Given the description of an element on the screen output the (x, y) to click on. 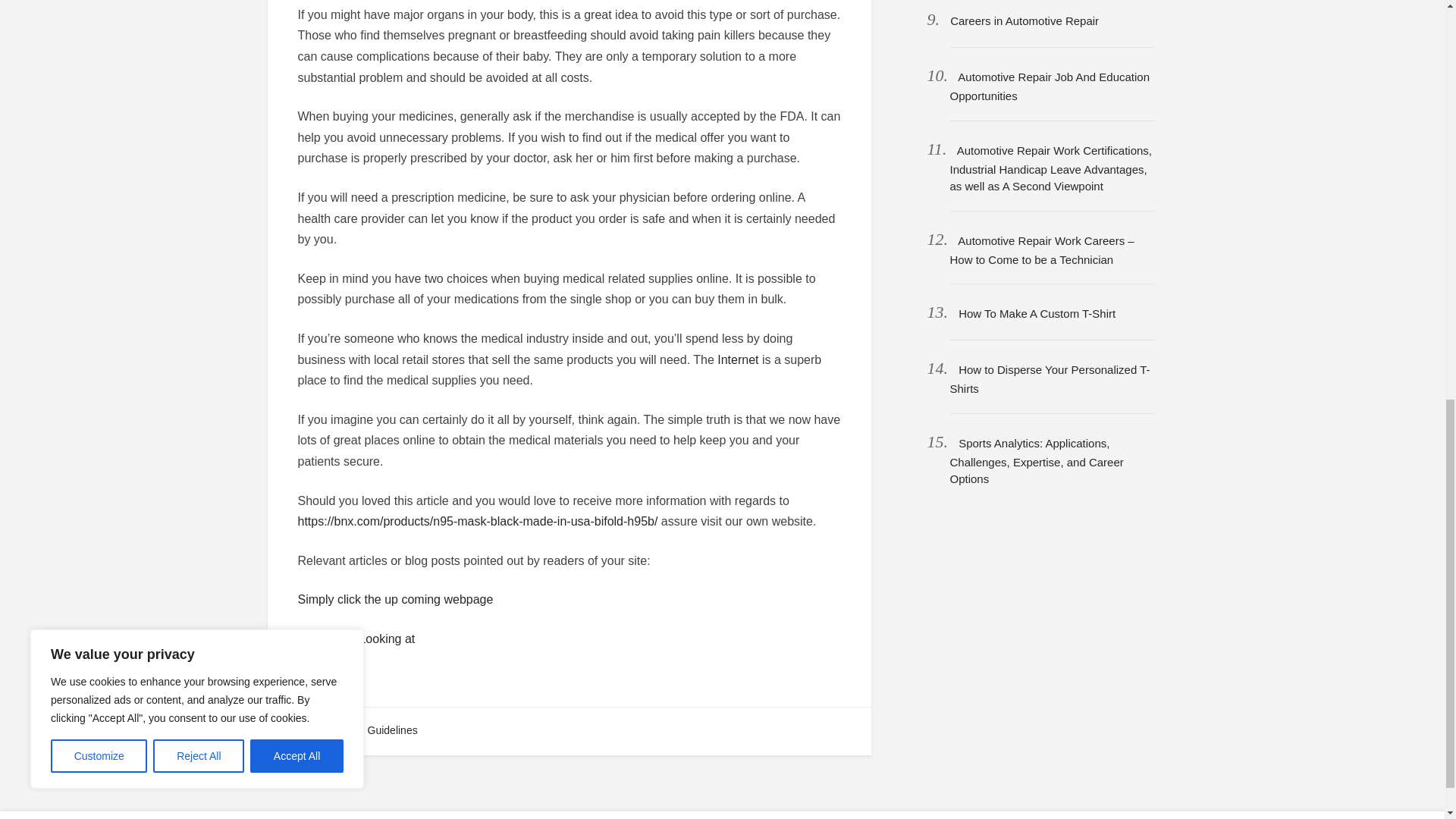
Careers in Automotive Repair (1024, 20)
Internet (737, 359)
General (324, 729)
Suggested Looking at (355, 638)
Guidelines (392, 729)
Simply click the up coming webpage (395, 599)
hyperlink (321, 677)
